Given the description of an element on the screen output the (x, y) to click on. 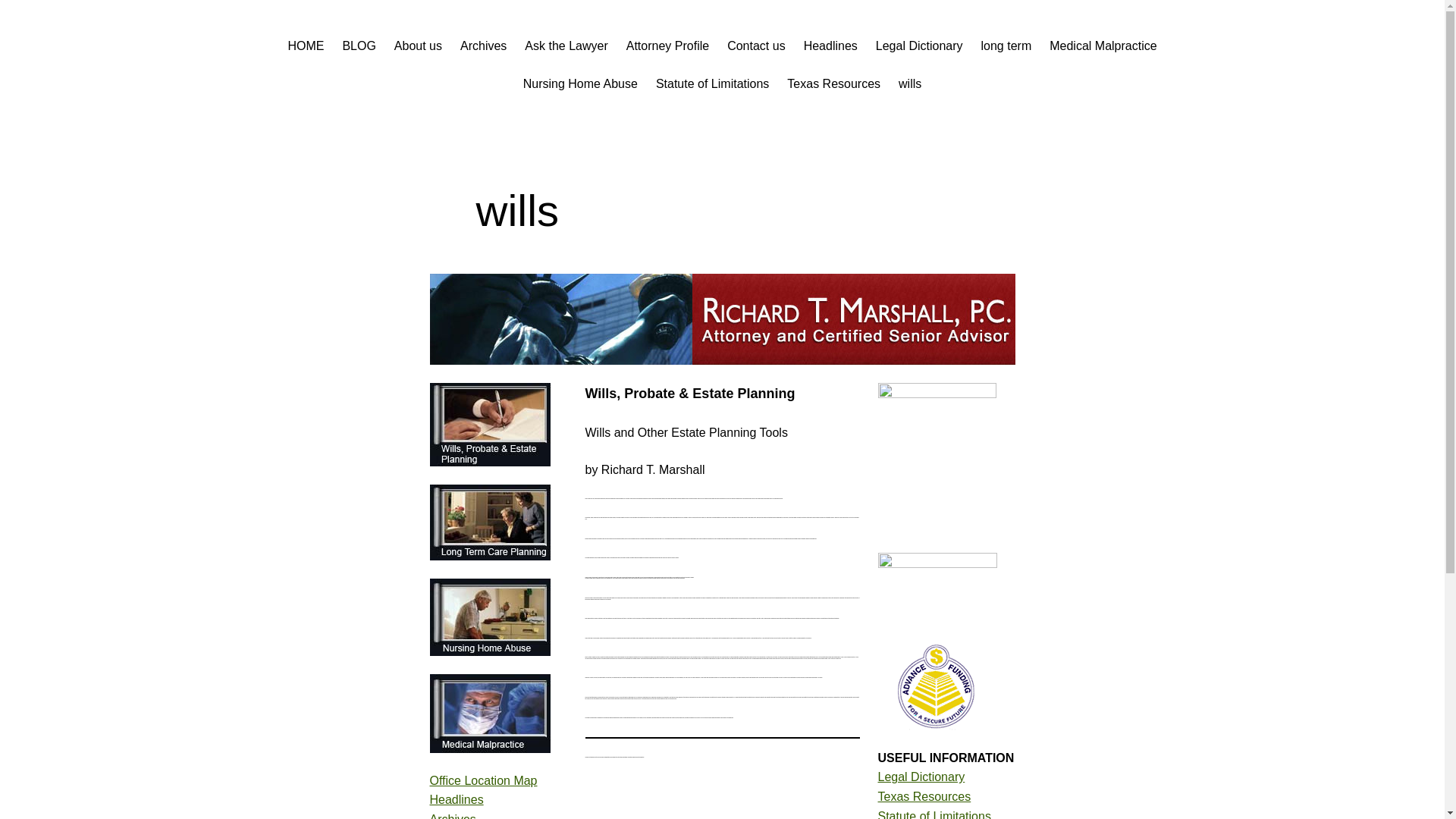
Ask the Lawyer (565, 46)
Nursing Home Abuse (579, 84)
wills (909, 84)
Statute of Limitations (934, 814)
Medical Malpractice (1102, 46)
Statute of Limitations (712, 84)
Legal Dictionary (921, 776)
About us (418, 46)
HOME (304, 46)
Texas Resources (924, 796)
Archives (452, 816)
long term (1006, 46)
BLOG (358, 46)
Headlines (456, 799)
Texas Resources (833, 84)
